Given the description of an element on the screen output the (x, y) to click on. 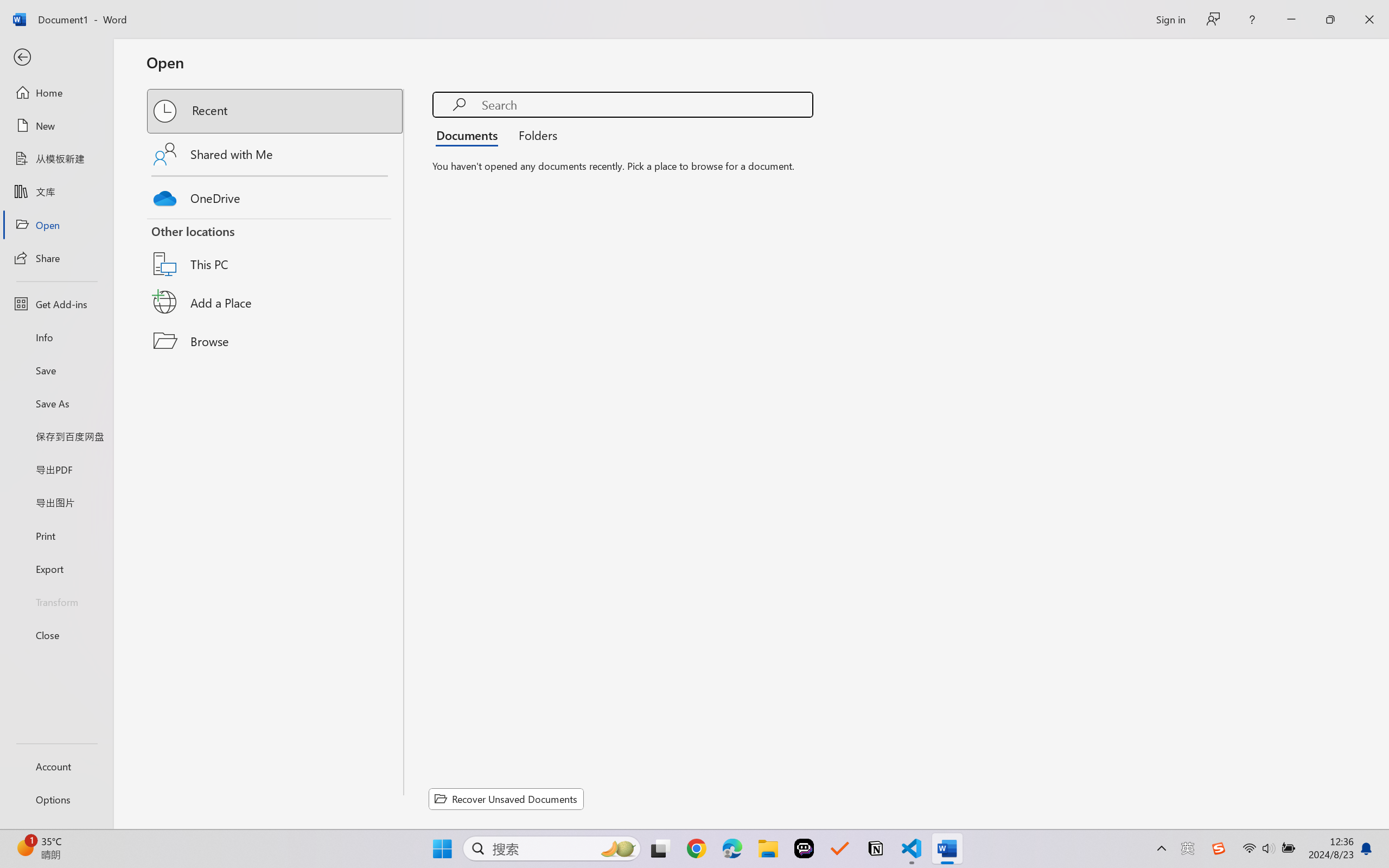
OneDrive (275, 195)
Recover Unsaved Documents (506, 798)
Account (56, 765)
New (56, 125)
This PC (275, 249)
Back (56, 57)
